Given the description of an element on the screen output the (x, y) to click on. 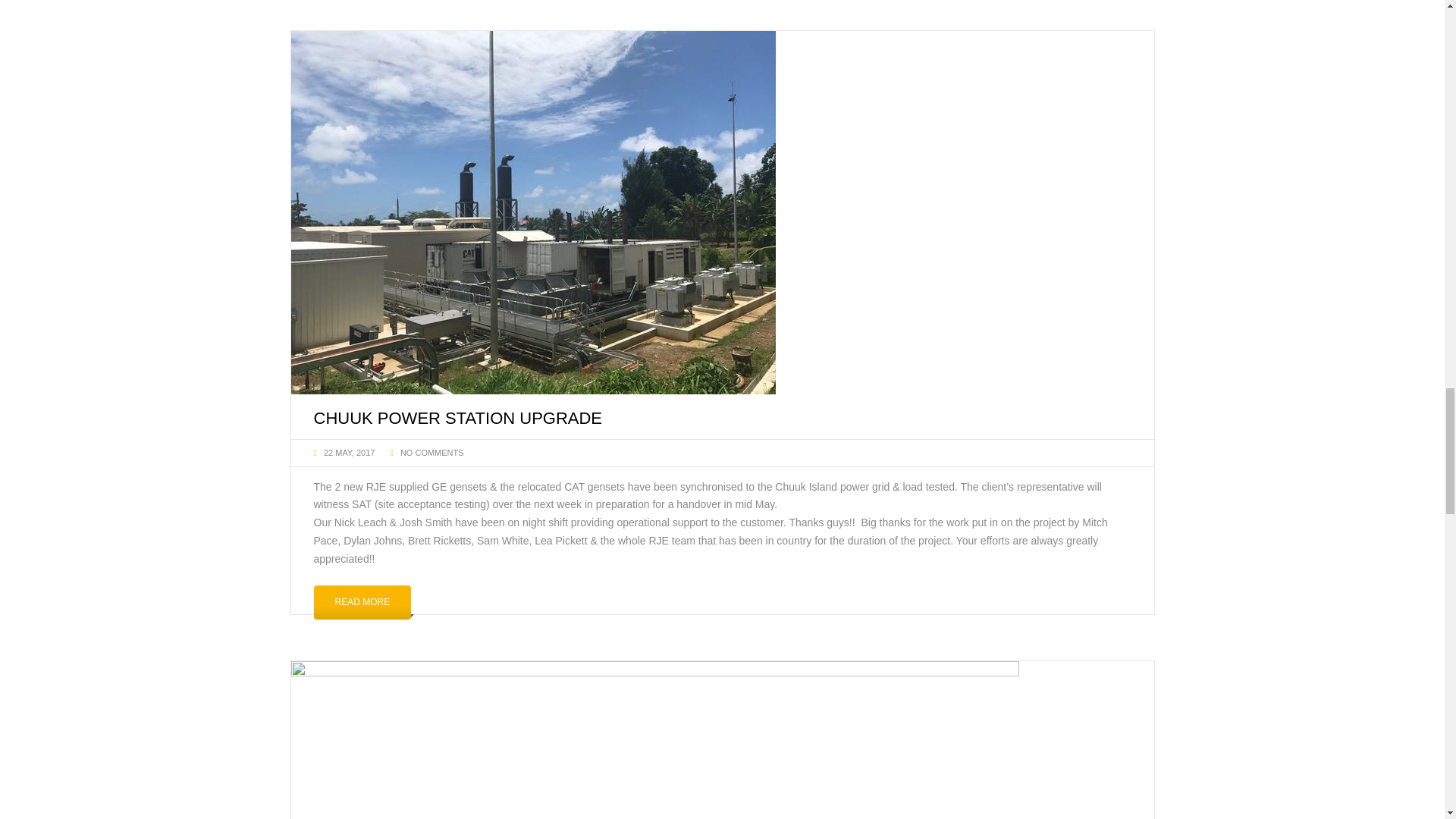
READ MORE (363, 602)
LOCAL RJE WORKS ARE UNDERWAY! (722, 47)
